Given the description of an element on the screen output the (x, y) to click on. 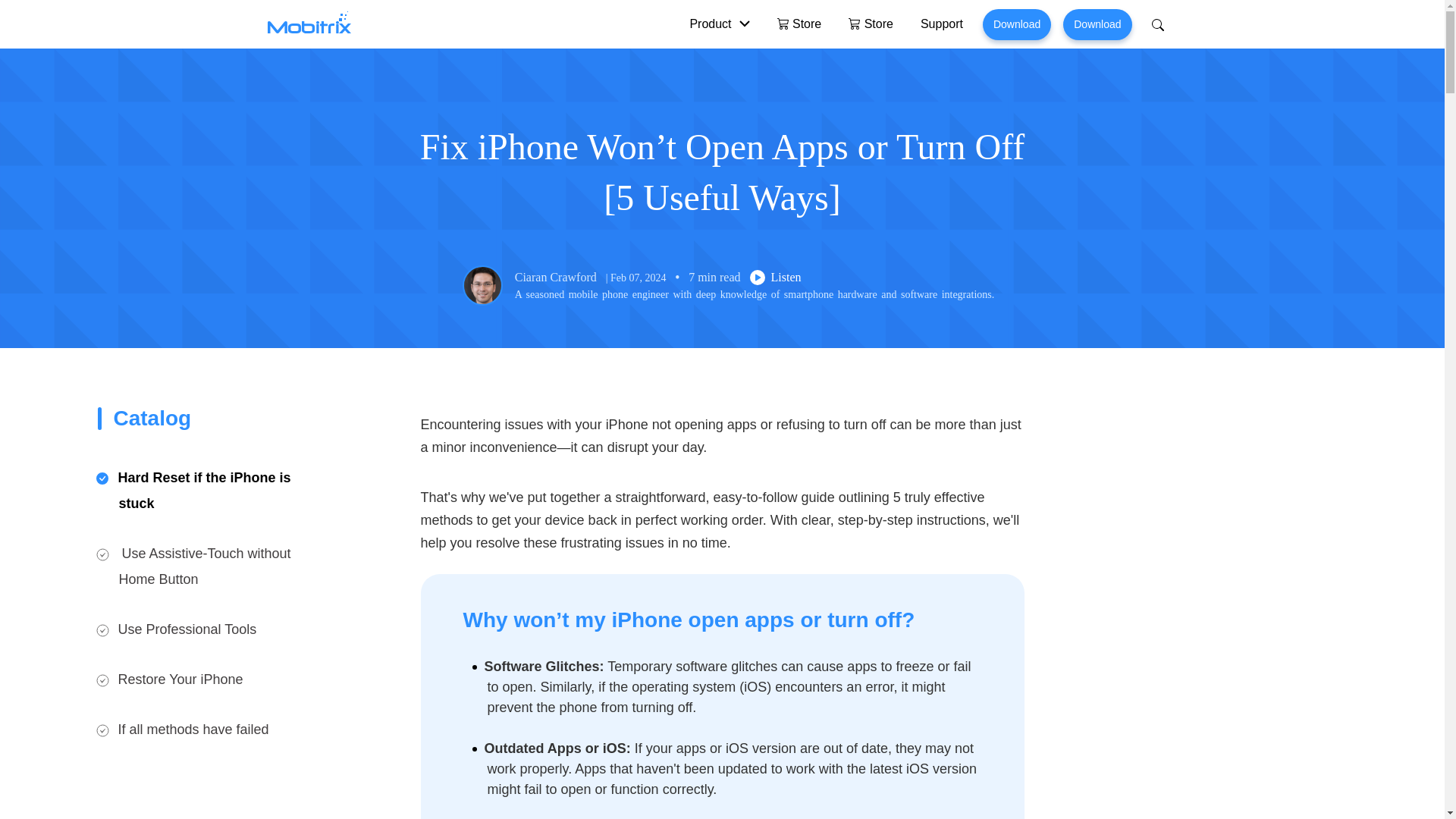
Download (1016, 24)
Product (718, 24)
Listen (775, 277)
Store (870, 24)
Support (941, 24)
Use Assistive-Touch without Home Button (204, 566)
Ciaran Crawford (555, 277)
Use Professional Tools (187, 629)
Store (798, 24)
Restore Your iPhone (180, 679)
